Given the description of an element on the screen output the (x, y) to click on. 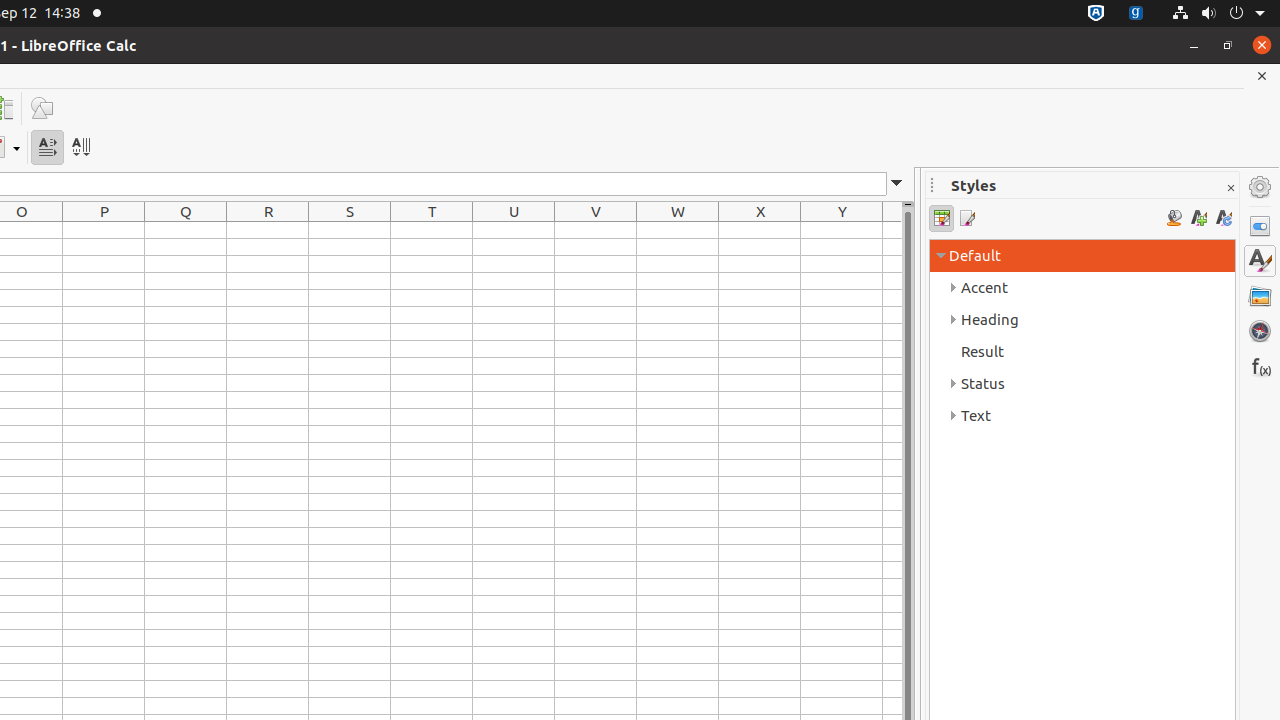
Update Style Element type: push-button (1223, 218)
V1 Element type: table-cell (596, 230)
Text direction from left to right Element type: toggle-button (47, 147)
Q1 Element type: table-cell (186, 230)
Z1 Element type: table-cell (892, 230)
